Given the description of an element on the screen output the (x, y) to click on. 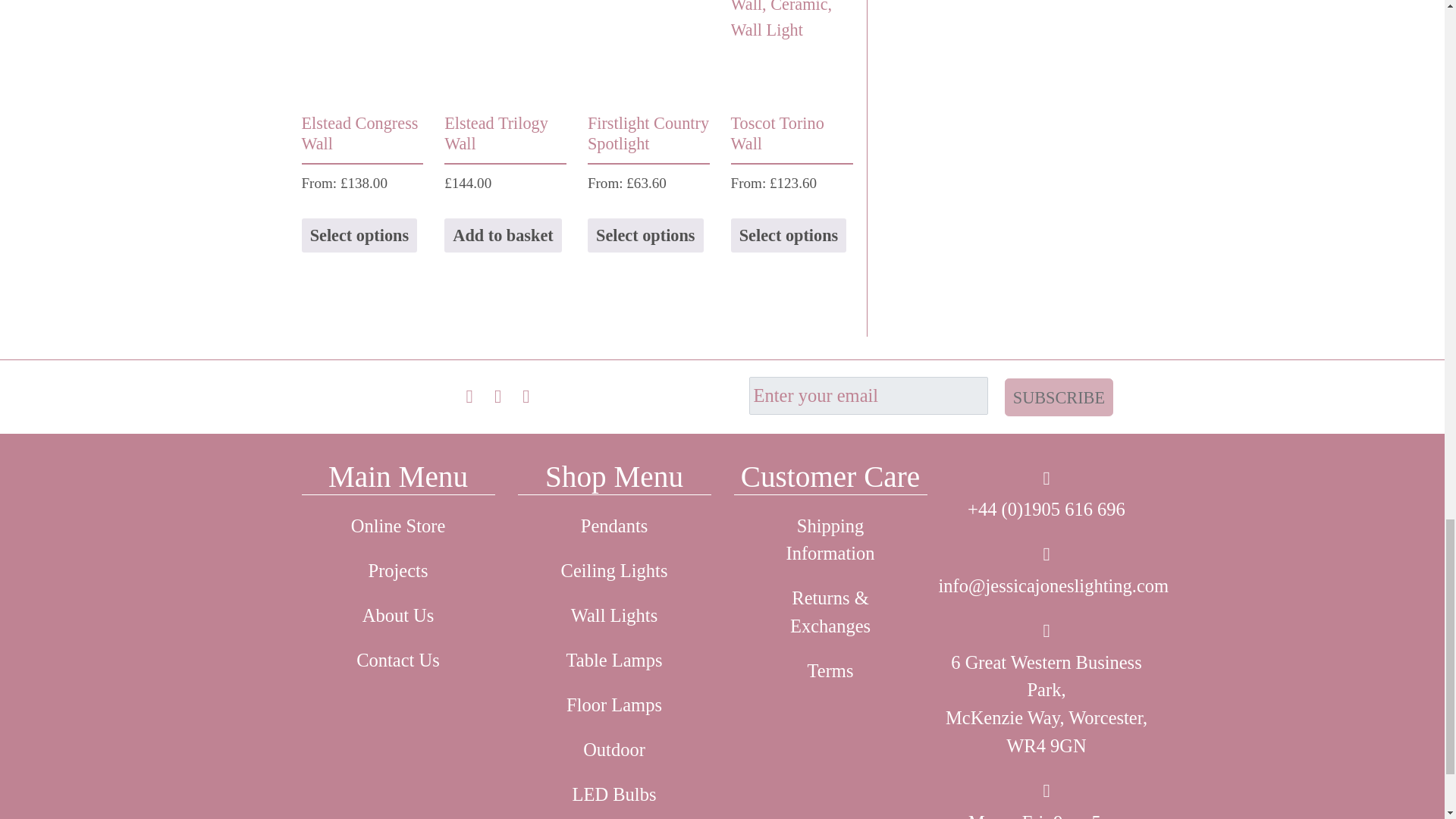
Select options (359, 235)
Online Store (398, 526)
Select options (788, 235)
Select options (645, 235)
About Us (398, 615)
Add to basket (503, 235)
Projects (398, 570)
